Given the description of an element on the screen output the (x, y) to click on. 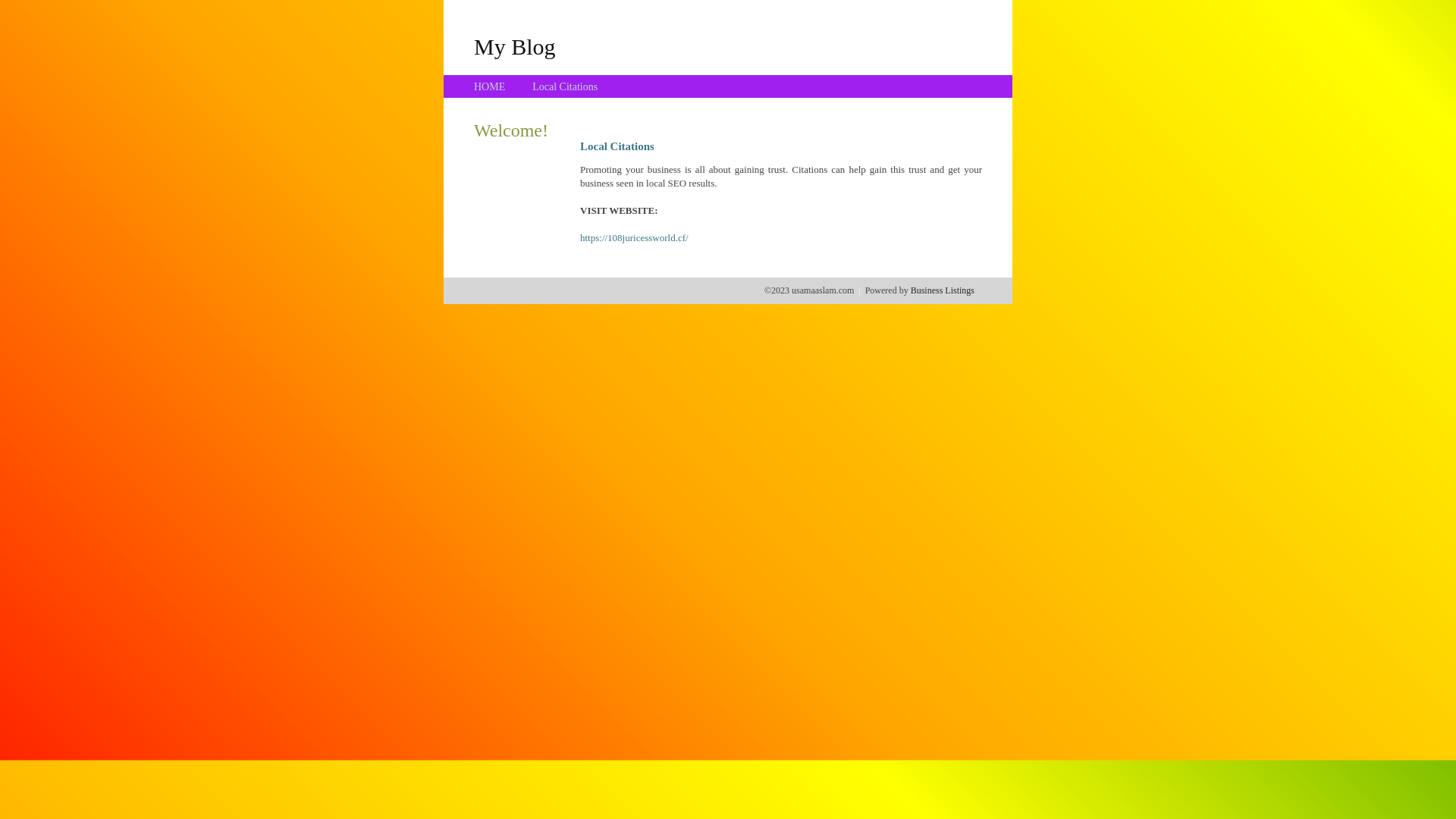
Business Listings Element type: text (942, 290)
My Blog Element type: text (514, 46)
Local Citations Element type: text (564, 86)
https://108juricessworld.cf/ Element type: text (634, 237)
HOME Element type: text (489, 86)
